Given the description of an element on the screen output the (x, y) to click on. 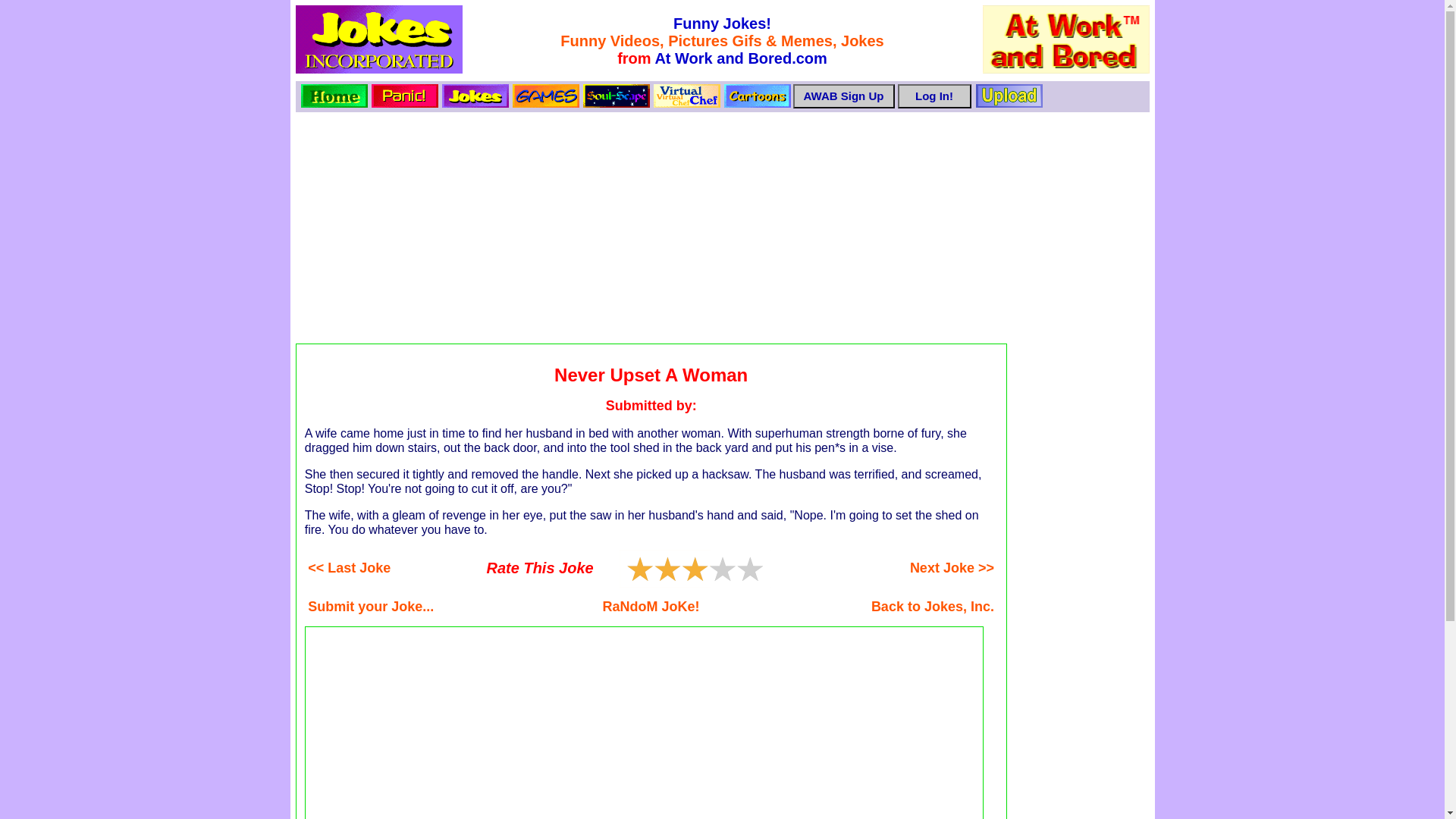
Funny Jokes! (721, 23)
Funny Videos, (614, 40)
Rating of 5 (695, 568)
At Work and Bored.com (740, 57)
Rating of 3 (665, 568)
Rating of 1 (636, 568)
Advertisement (644, 723)
Rating of 4 (678, 568)
Rating of 2 (650, 568)
